Given the description of an element on the screen output the (x, y) to click on. 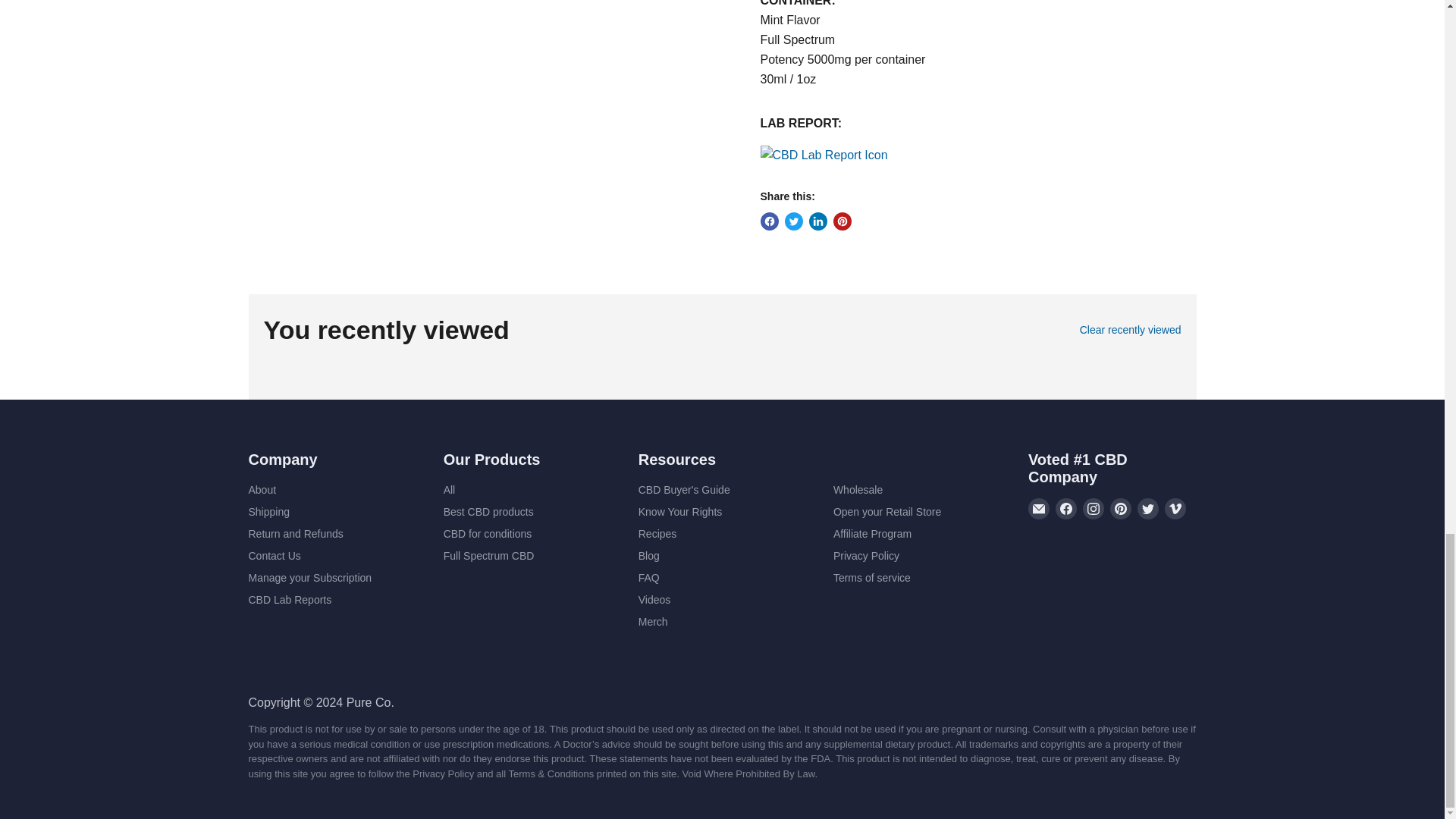
Pinterest (1120, 508)
Instagram (1093, 508)
Vimeo (1175, 508)
Twitter (1147, 508)
Facebook (1066, 508)
Email (1038, 508)
